Given the description of an element on the screen output the (x, y) to click on. 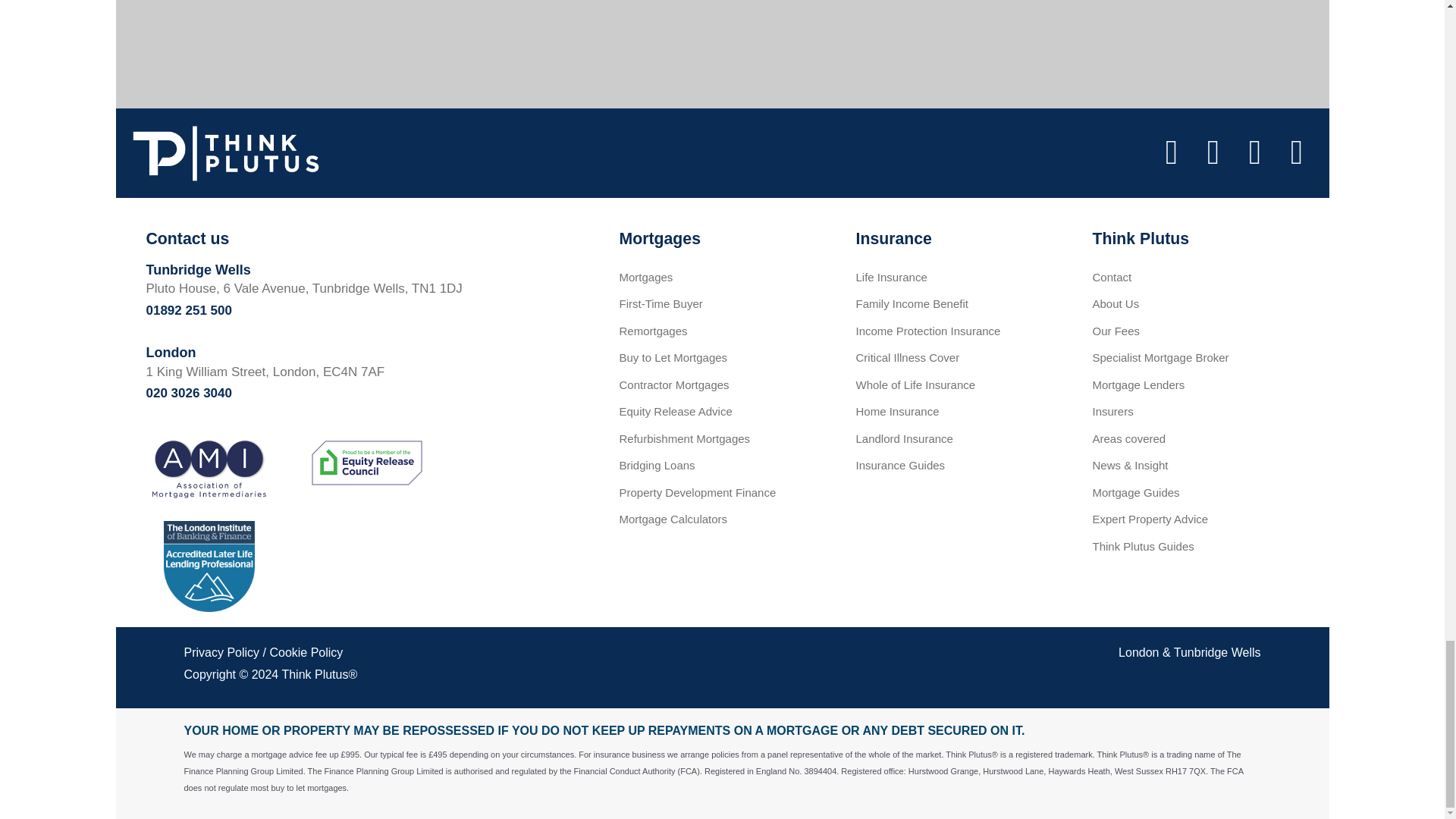
Association of Mortgage Intermediaries logo (209, 467)
Cookie Policy  (305, 652)
member equity release council (366, 462)
Mortgage Broker London (1138, 652)
LIBF Accredited Later Life Lending professional Dave Relfe (208, 565)
Mortgage Broker Tunbridge Wells (1216, 652)
Privacy Policy (221, 652)
Think Plutus logo (225, 152)
member society of mortgage professionals (366, 558)
Think Plutus (314, 674)
